Given the description of an element on the screen output the (x, y) to click on. 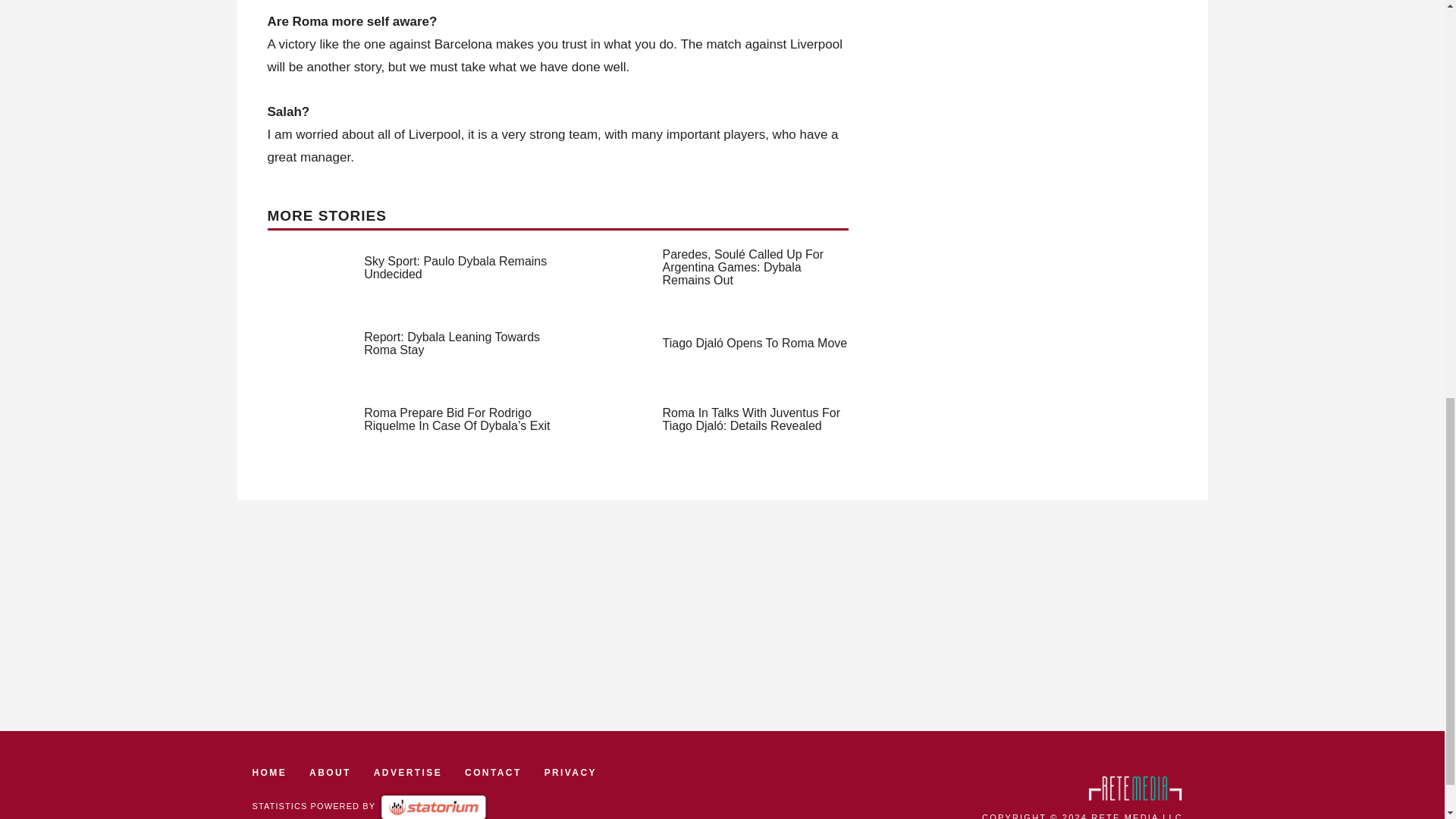
HOME (268, 772)
ADVERTISE (408, 772)
ABOUT (329, 772)
Report: Dybala Leaning Towards Roma Stay (452, 343)
PRIVACY (570, 772)
Sky Sport: Paulo Dybala Remains Undecided (455, 267)
CONTACT (492, 772)
